Given the description of an element on the screen output the (x, y) to click on. 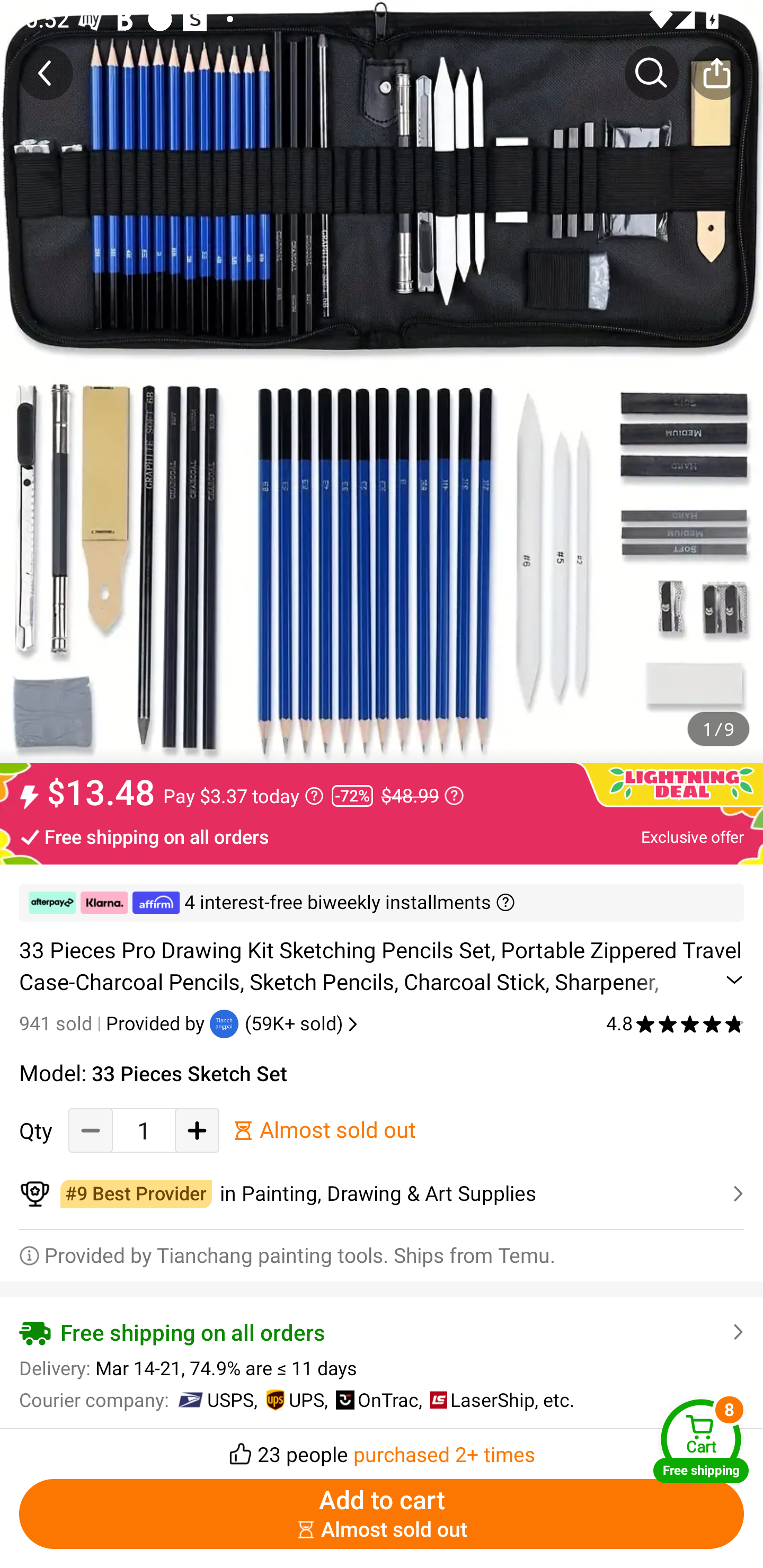
Back (46, 72)
Share (716, 72)
Pay $3.37 today   (243, 795)
Free shipping on all orders Exclusive offer (381, 836)
￼ ￼ ￼ 4 interest-free biweekly installments ￼ (381, 902)
4.8 (674, 1023)
Decrease Quantity Button (90, 1130)
1 (143, 1130)
Add Quantity button (196, 1130)
￼￼in Painting, Drawing & Art Supplies (381, 1193)
Cart Free shipping Cart (701, 1440)
Add to cart ￼￼Almost sold out (381, 1513)
